Given the description of an element on the screen output the (x, y) to click on. 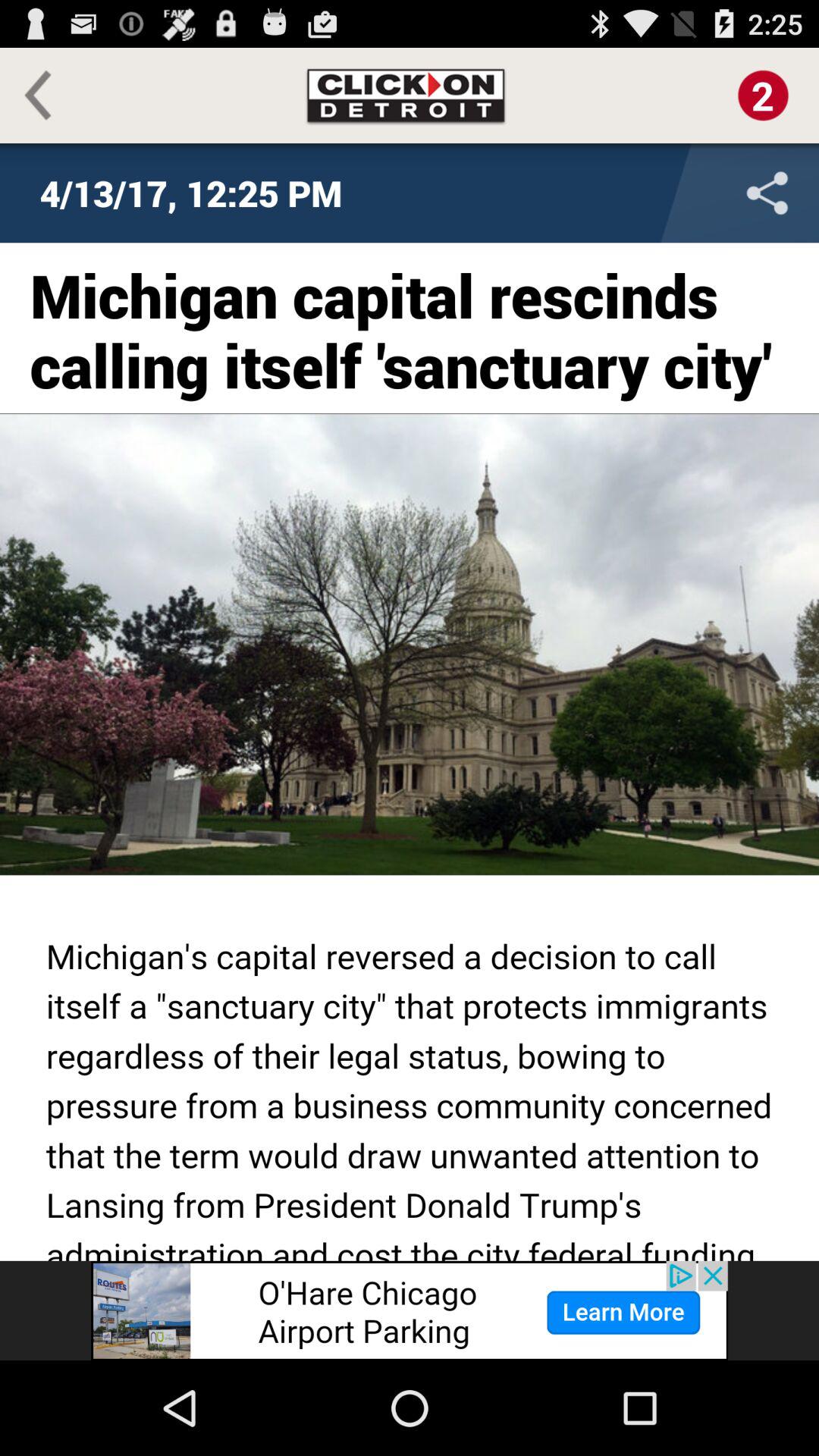
open advertisement (409, 1310)
